Given the description of an element on the screen output the (x, y) to click on. 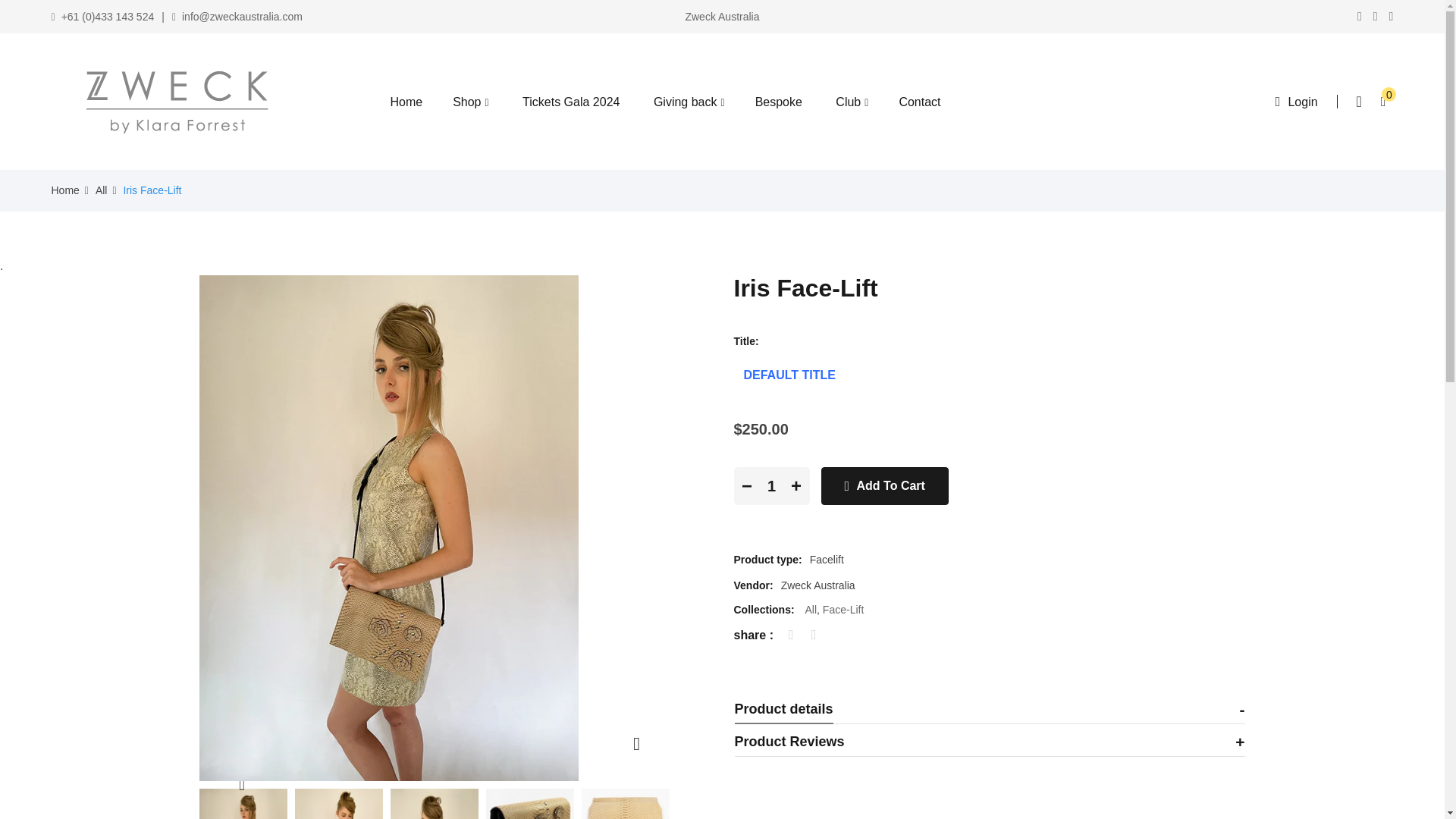
Shop (470, 101)
Zweck Australia (153, 101)
Giving back (689, 101)
Login (1302, 102)
Club (852, 101)
Bespoke (777, 101)
Home (406, 101)
Contact (919, 101)
Tickets Gala 2024 (570, 101)
1 (771, 485)
